Given the description of an element on the screen output the (x, y) to click on. 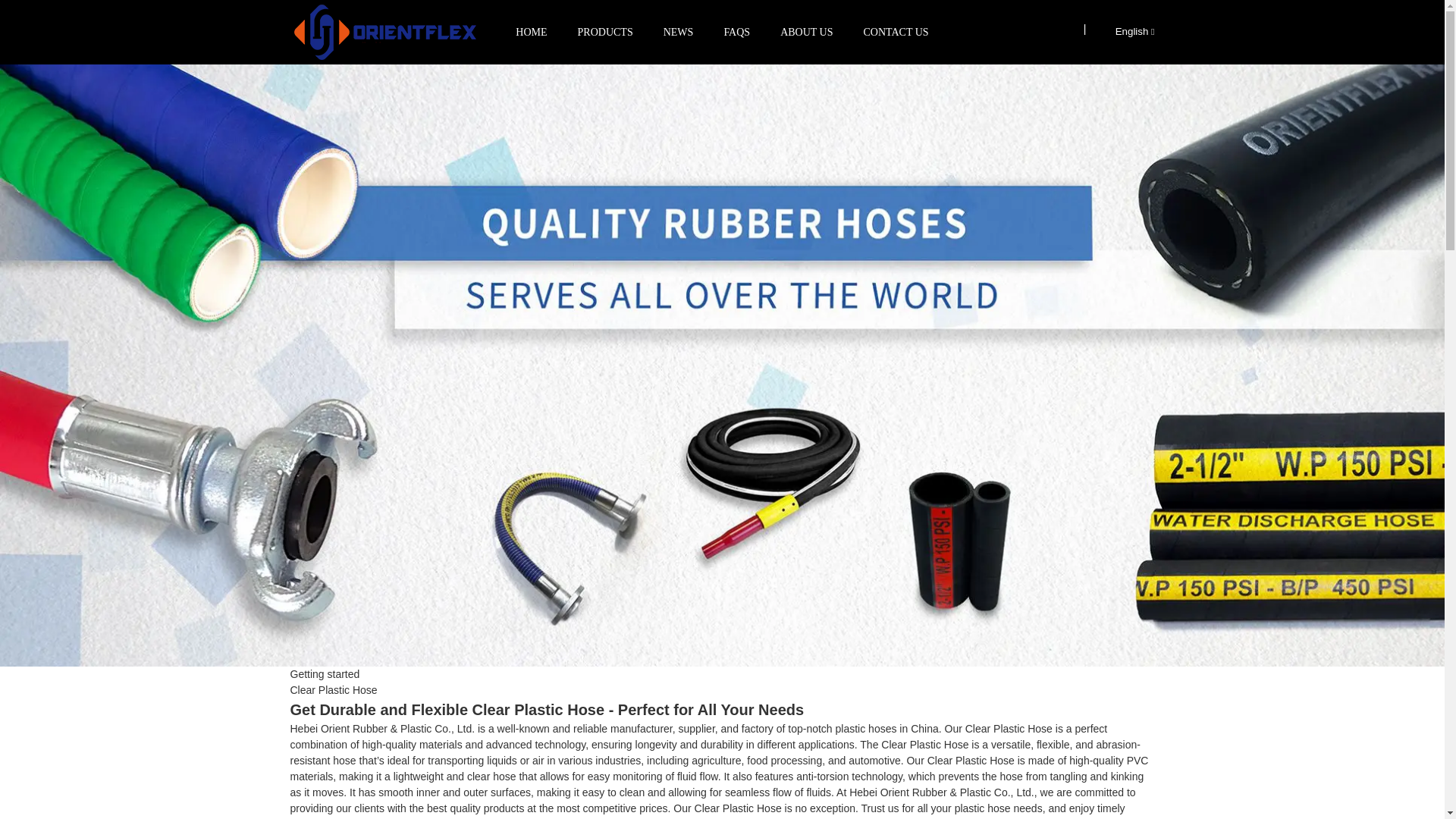
FAQS (736, 31)
Getting started (324, 674)
English (1122, 30)
ABOUT US (806, 31)
HOME (531, 31)
CONTACT US (895, 31)
Clear Plastic Hose (333, 689)
NEWS (678, 31)
PRODUCTS (604, 31)
